Given the description of an element on the screen output the (x, y) to click on. 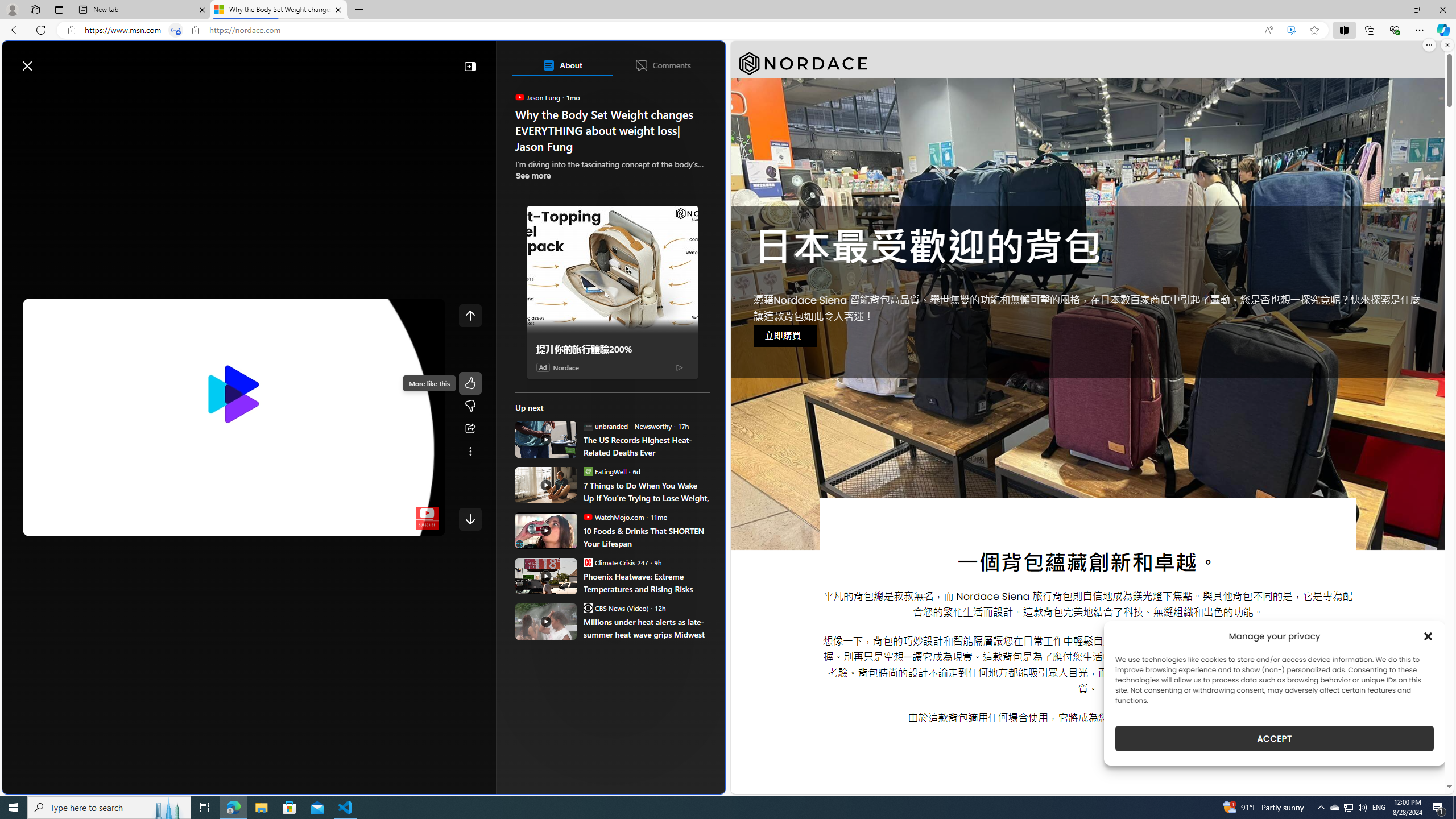
The US Records Highest Heat-Related Deaths Ever (545, 438)
Web search (161, 60)
Skip to footer (46, 59)
View site information (195, 29)
Personal Profile (12, 9)
EatingWell (587, 470)
App bar (728, 29)
Watch on YouTube (396, 525)
Discover (47, 92)
Share this story (469, 428)
Class: ytp-subtitles-button-icon (343, 525)
Dislike (469, 405)
